Given the description of an element on the screen output the (x, y) to click on. 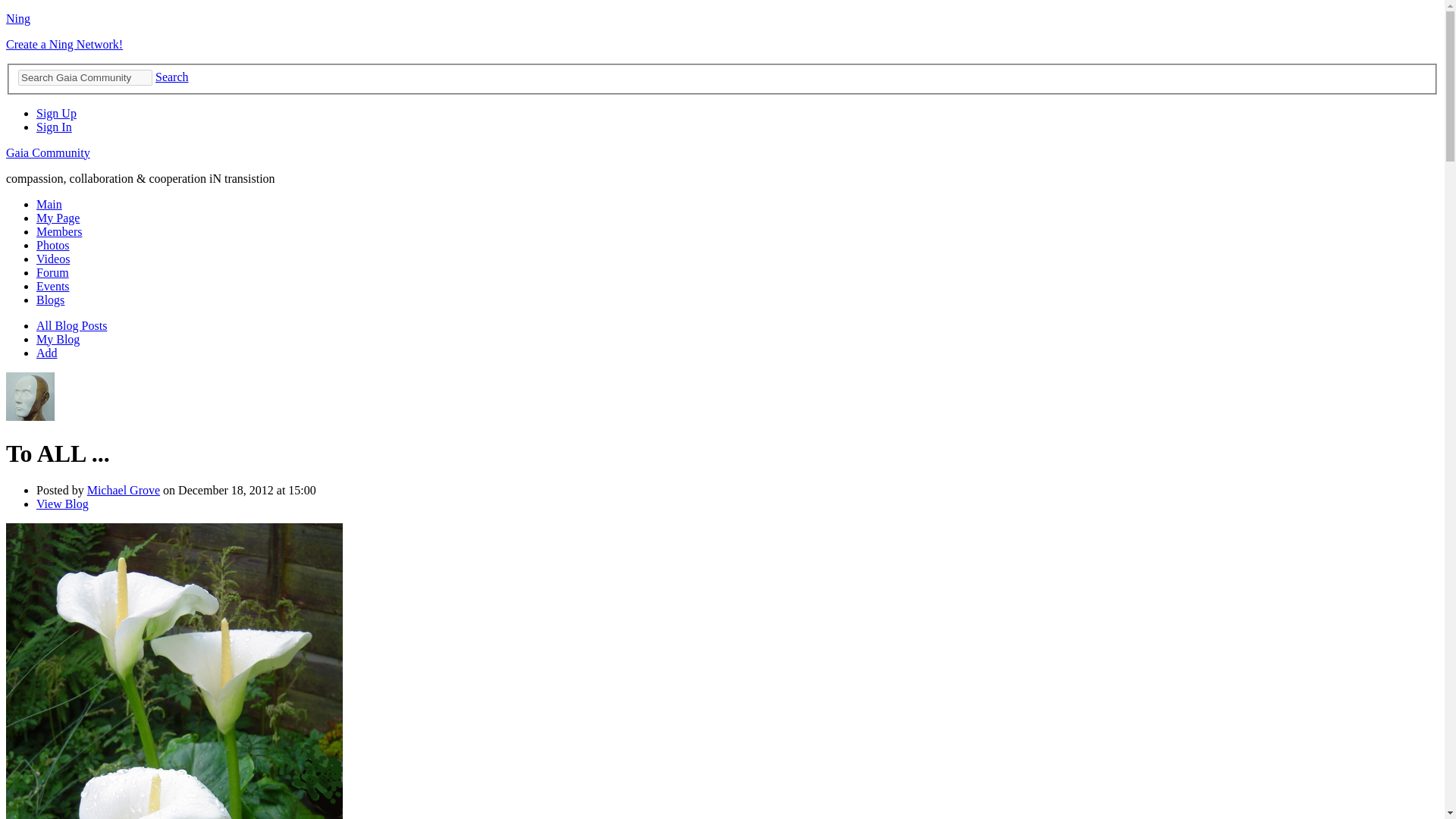
Michael Grove (30, 416)
All Blog Posts (71, 325)
Members (58, 231)
Main (49, 204)
Photos (52, 245)
on December 18, 2012 at 15:00 (237, 490)
Michael Grove (123, 490)
Forum (52, 272)
Sign In (53, 126)
Add (47, 352)
Search (172, 76)
Sign Up (56, 113)
Gaia Community (47, 152)
Create a Ning Network! (63, 43)
Videos (52, 258)
